Given the description of an element on the screen output the (x, y) to click on. 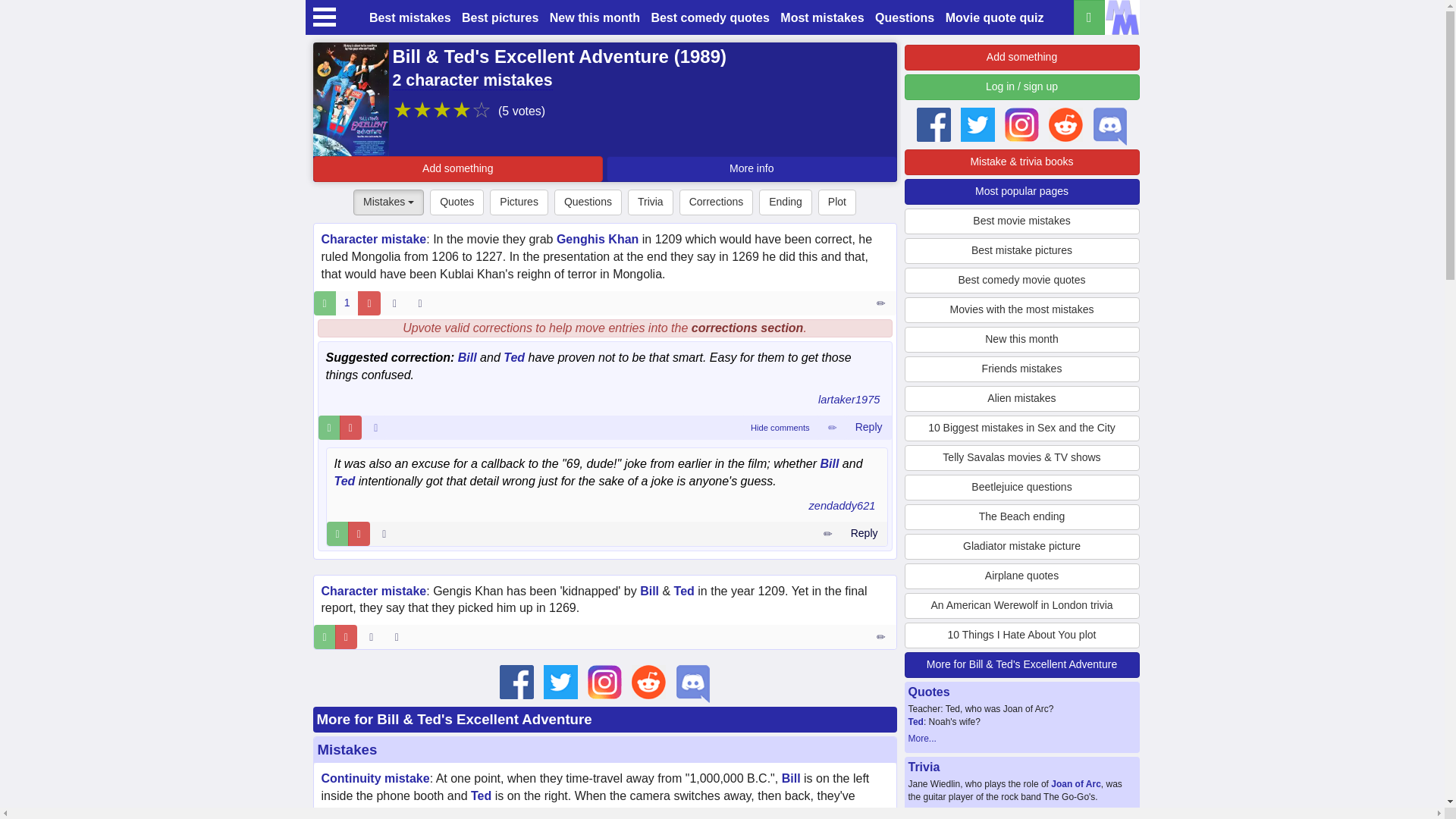
I like this (325, 636)
I like this (336, 533)
I dislike this (369, 303)
Comment on correction 104252 (868, 427)
ID 336217: 14th October 2021 (395, 303)
Edit correction 104252 (831, 427)
Share this entry (423, 303)
I dislike this (358, 533)
ID 104252: 17th Oct 2021 (376, 427)
